Given the description of an element on the screen output the (x, y) to click on. 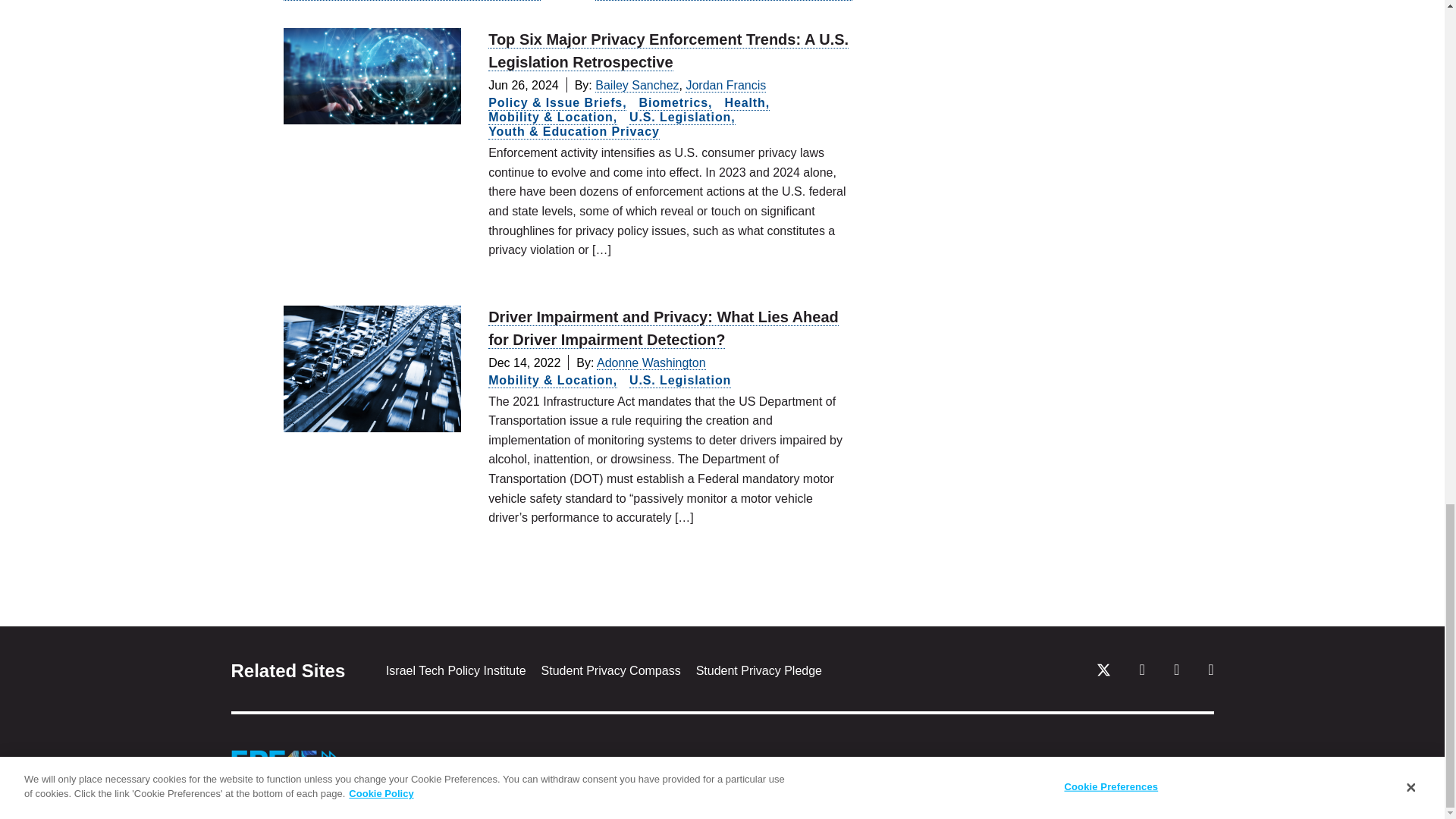
LinkedIn (1176, 672)
Instagram (1210, 672)
X (1103, 674)
Youtube (1142, 672)
